Given the description of an element on the screen output the (x, y) to click on. 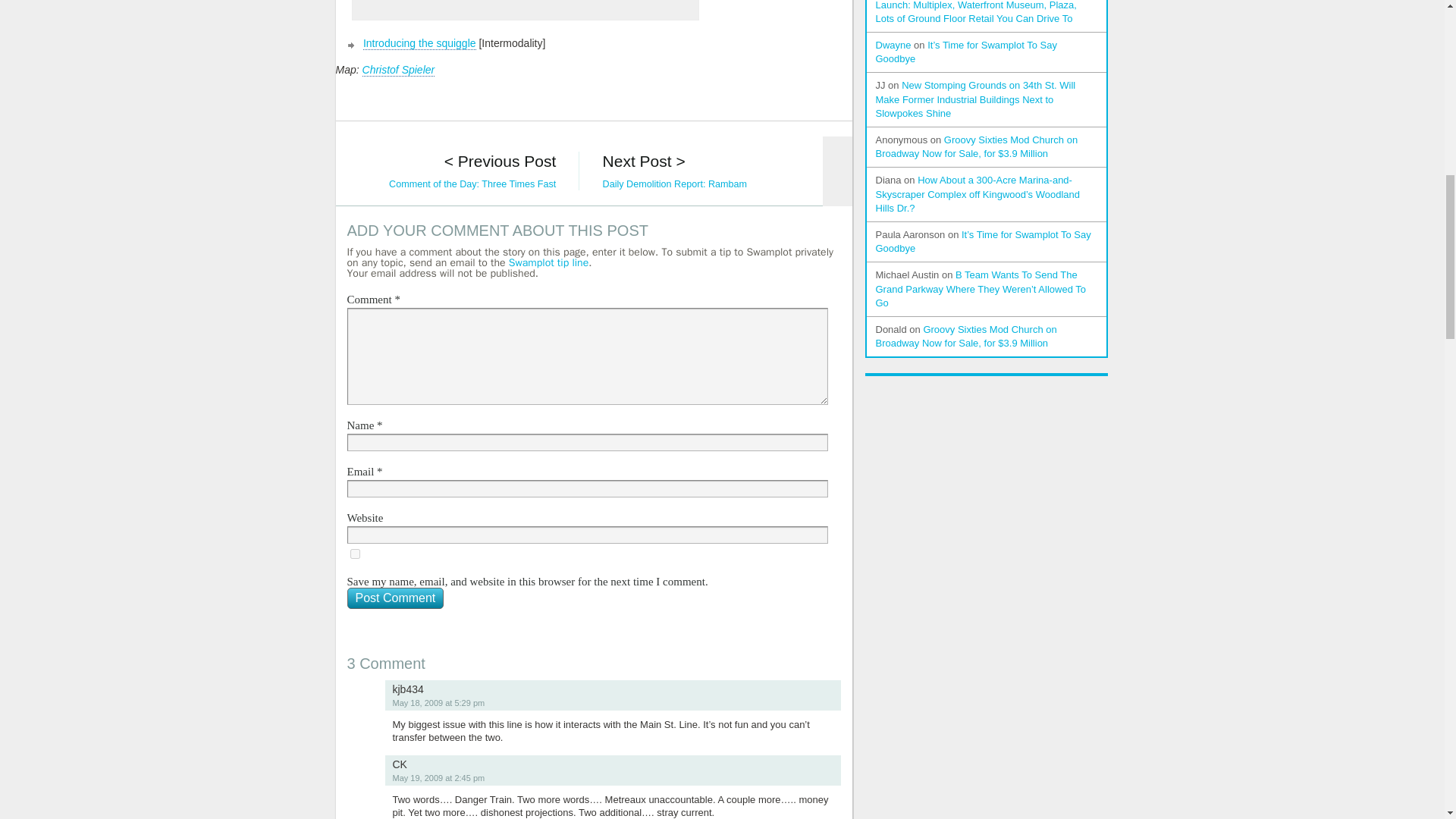
Christof Spieler (398, 69)
yes (354, 553)
Post Comment (395, 598)
Introducing the squiggle (419, 42)
